Given the description of an element on the screen output the (x, y) to click on. 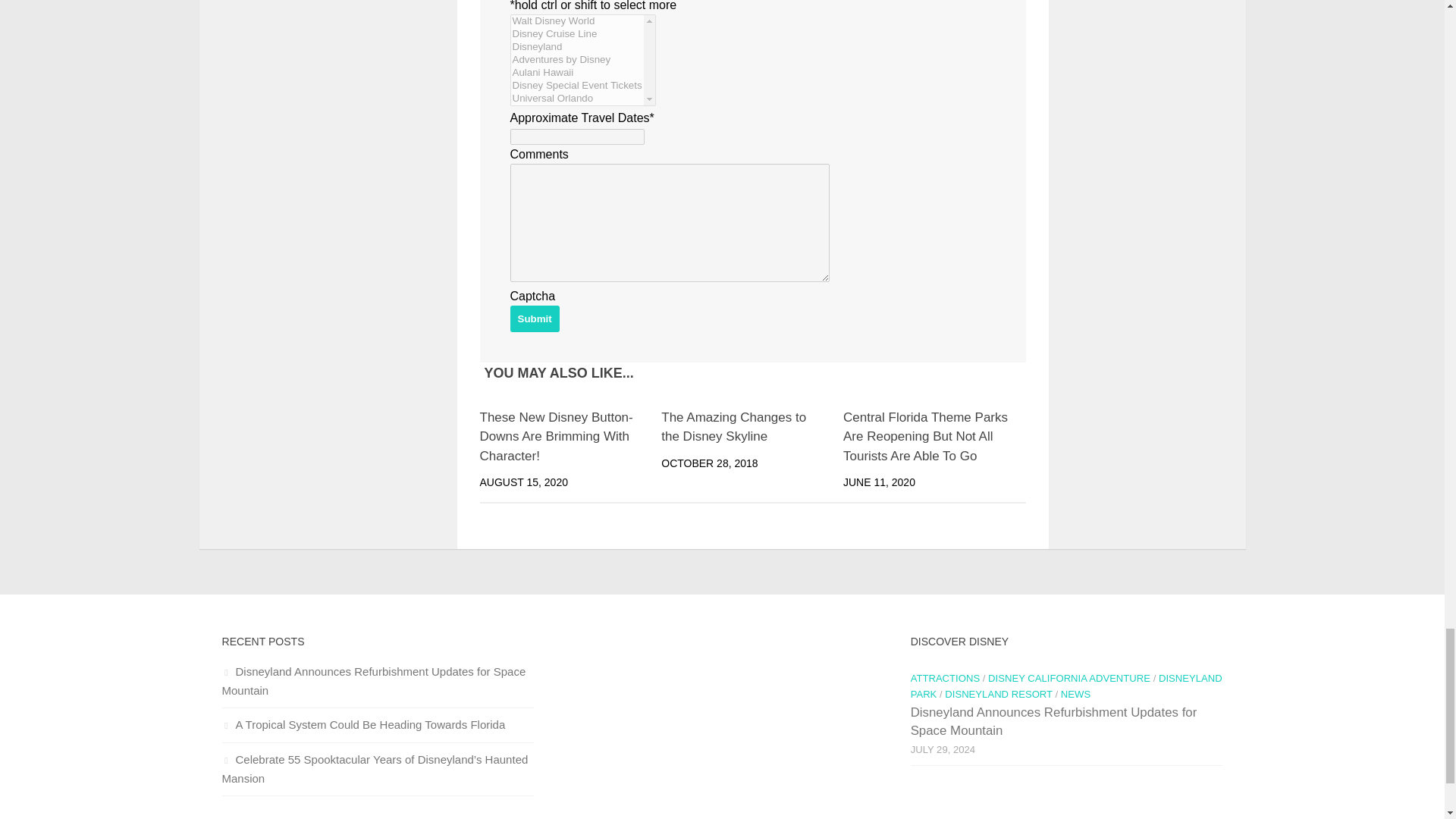
Submit (534, 318)
